Given the description of an element on the screen output the (x, y) to click on. 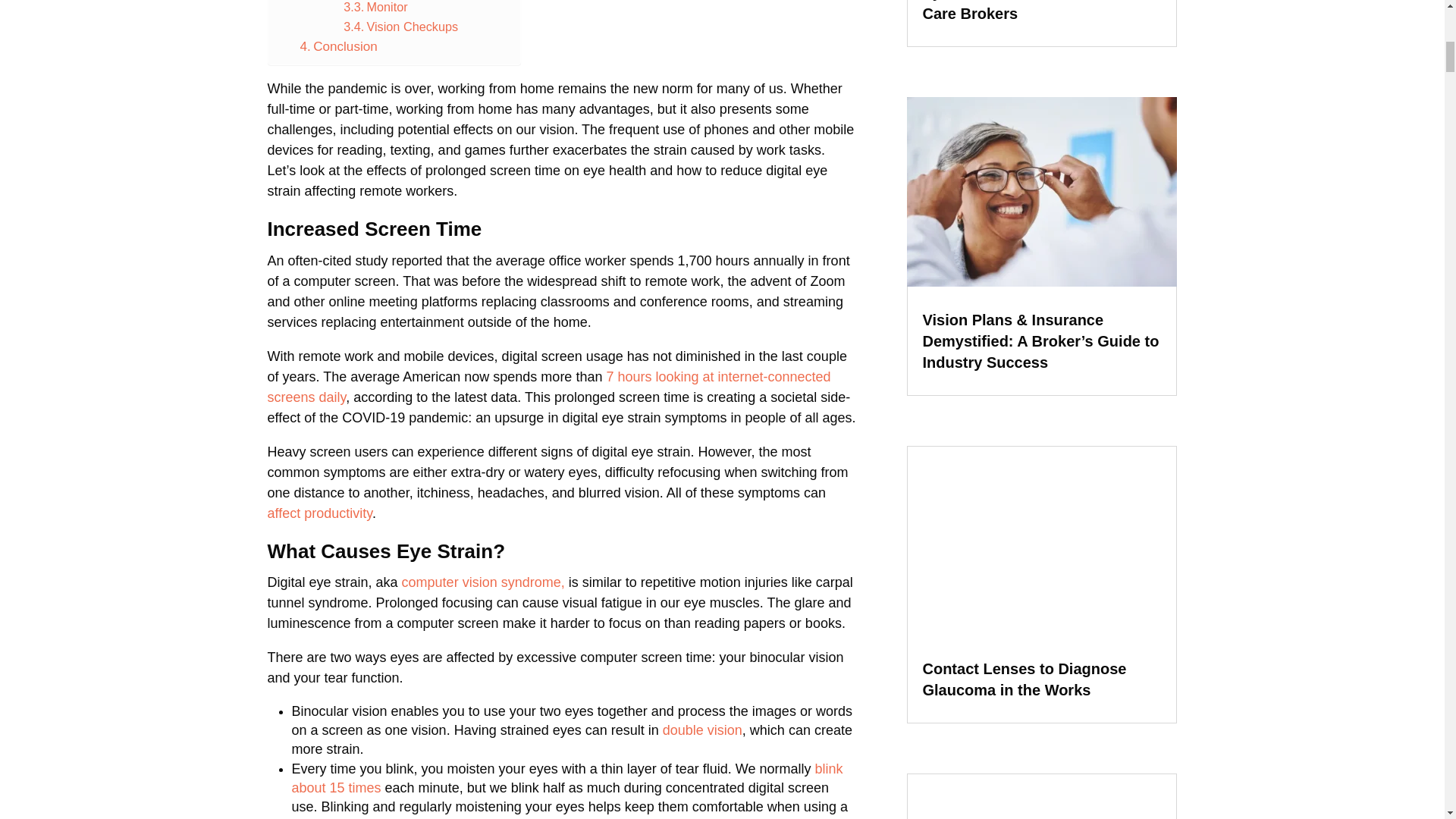
Conclusion (338, 46)
Monitor (375, 8)
Vision Checkups (400, 26)
